Given the description of an element on the screen output the (x, y) to click on. 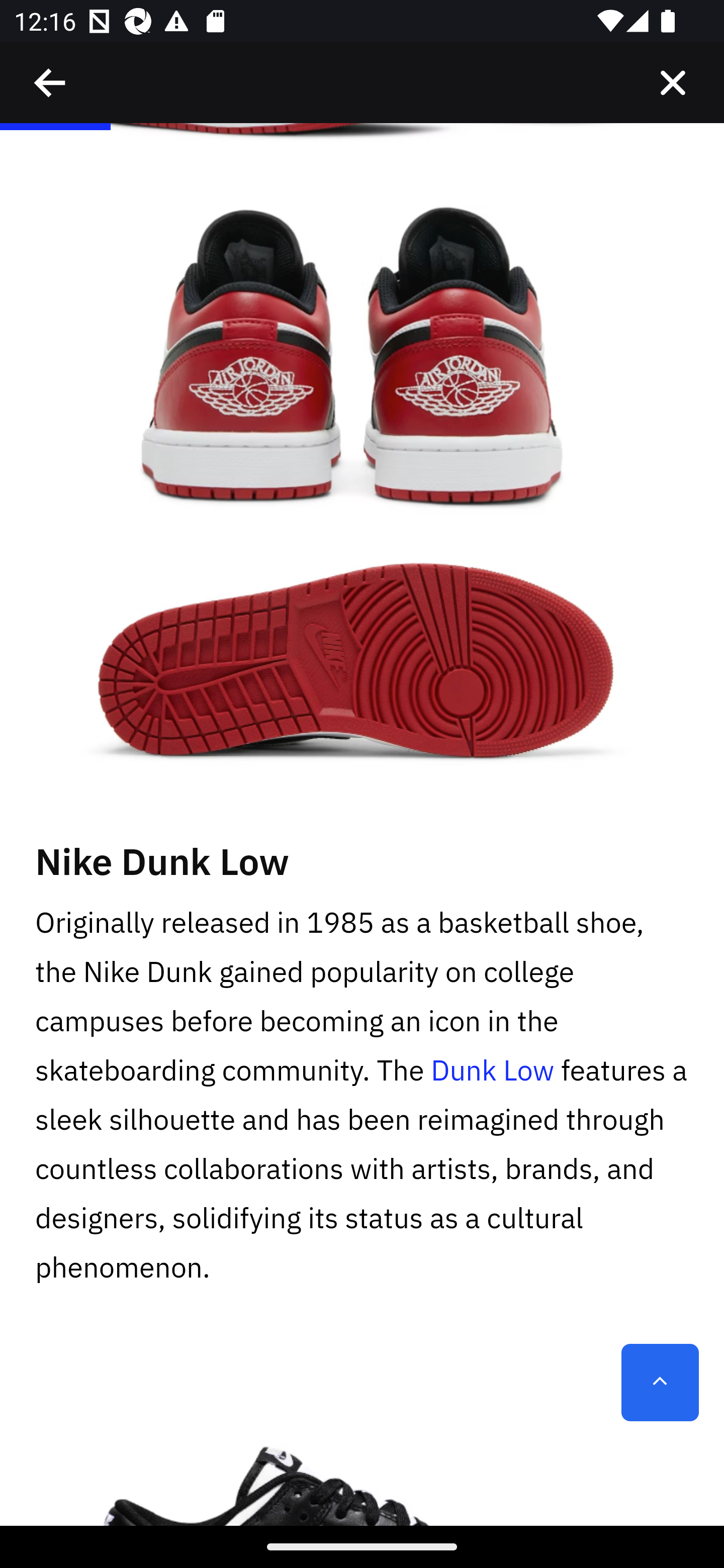
 (50, 83)
 (672, 83)
Dunk Low (492, 1071)
Scroll to top  (659, 1382)
